Given the description of an element on the screen output the (x, y) to click on. 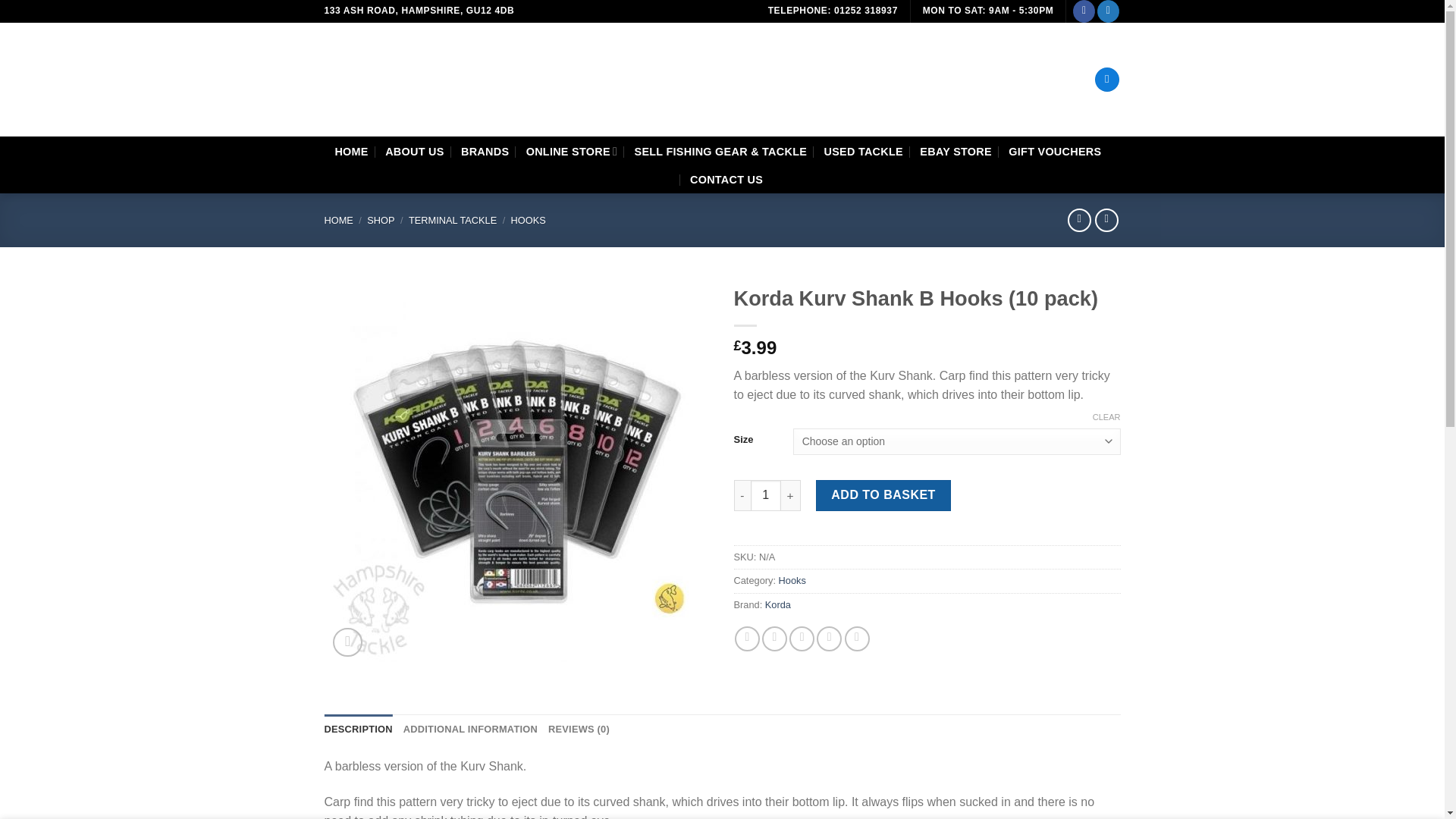
LOGIN (1050, 79)
ONLINE STORE (571, 151)
Follow on Facebook (1083, 11)
1 (765, 494)
ABOUT US (414, 151)
SHOP (380, 220)
TERMINAL TACKLE (452, 220)
Qty (765, 494)
EBAY STORE (955, 151)
GIFT VOUCHERS (1054, 151)
